Given the description of an element on the screen output the (x, y) to click on. 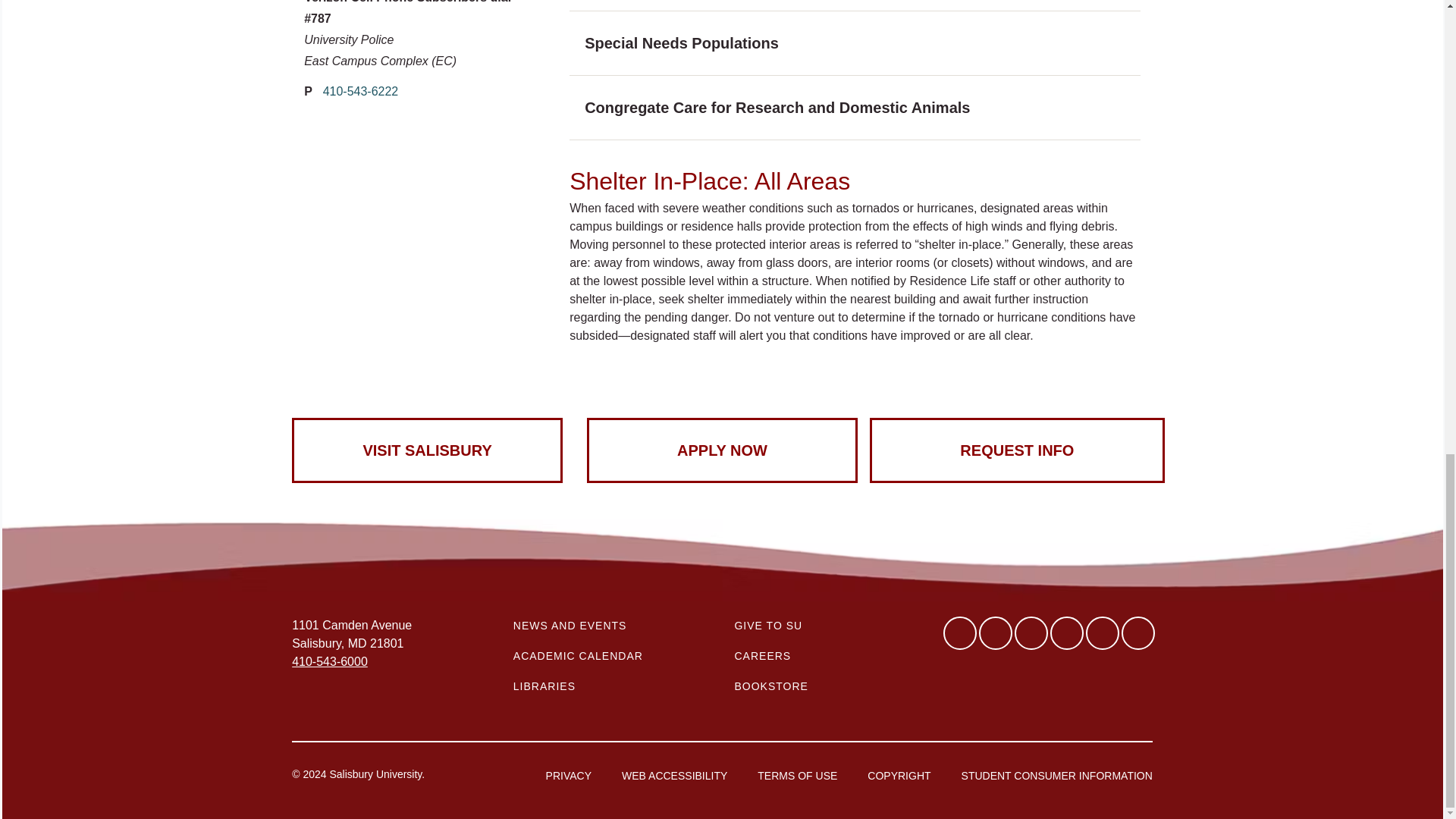
Follow Us on Twitter (994, 633)
Visit Salisbury University on Flickr (1066, 633)
Follow Salisbury University on instagram (1137, 633)
Visit Salisbury University's YouTube Channel (1102, 633)
Like Salisbury University on Facebook (959, 633)
Connect With Salisbury University on LinkedIn (1031, 633)
